Given the description of an element on the screen output the (x, y) to click on. 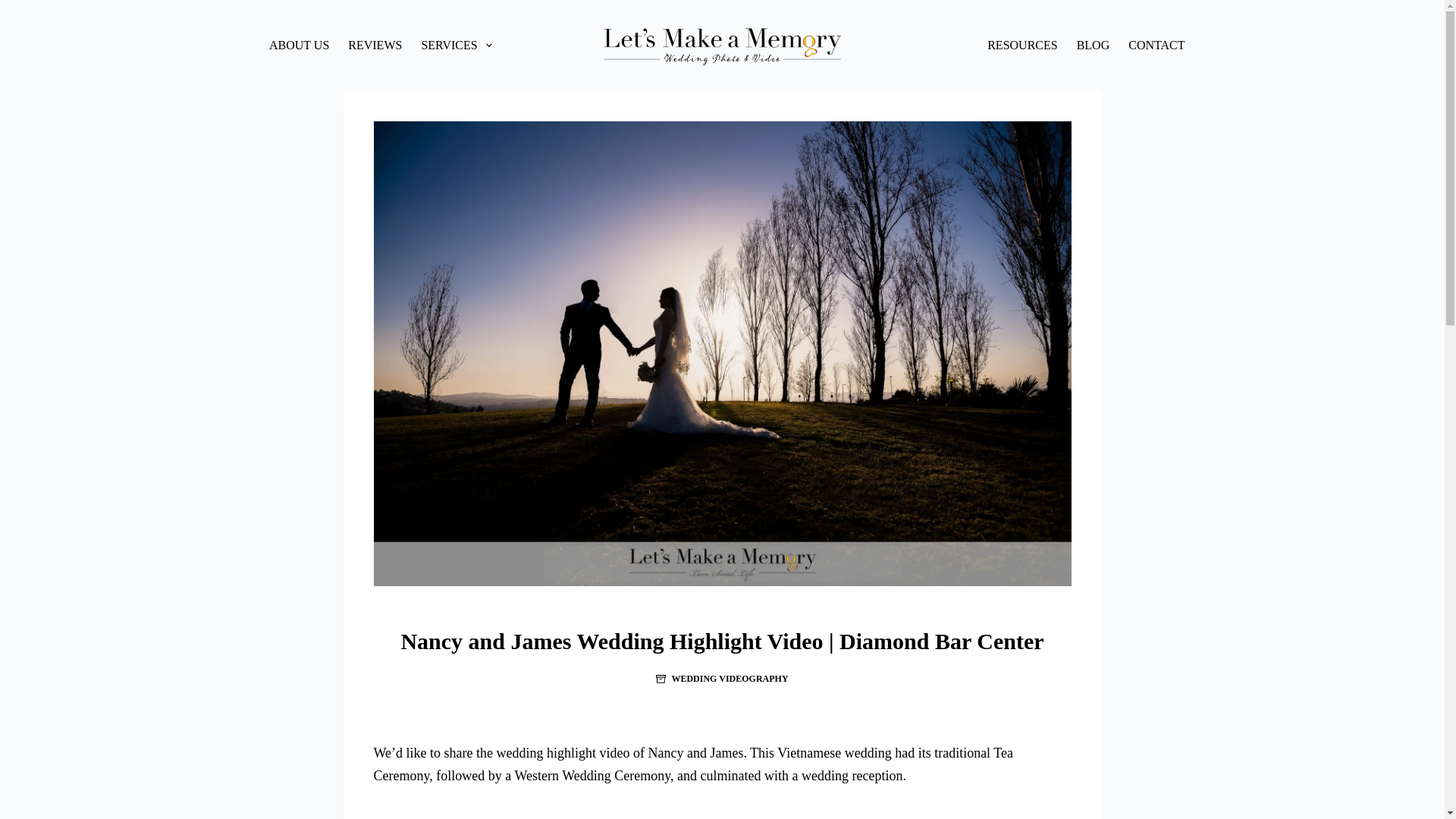
WEDDING VIDEOGRAPHY (729, 678)
SERVICES (456, 45)
Skip to content (15, 7)
RESOURCES (1022, 45)
